Given the description of an element on the screen output the (x, y) to click on. 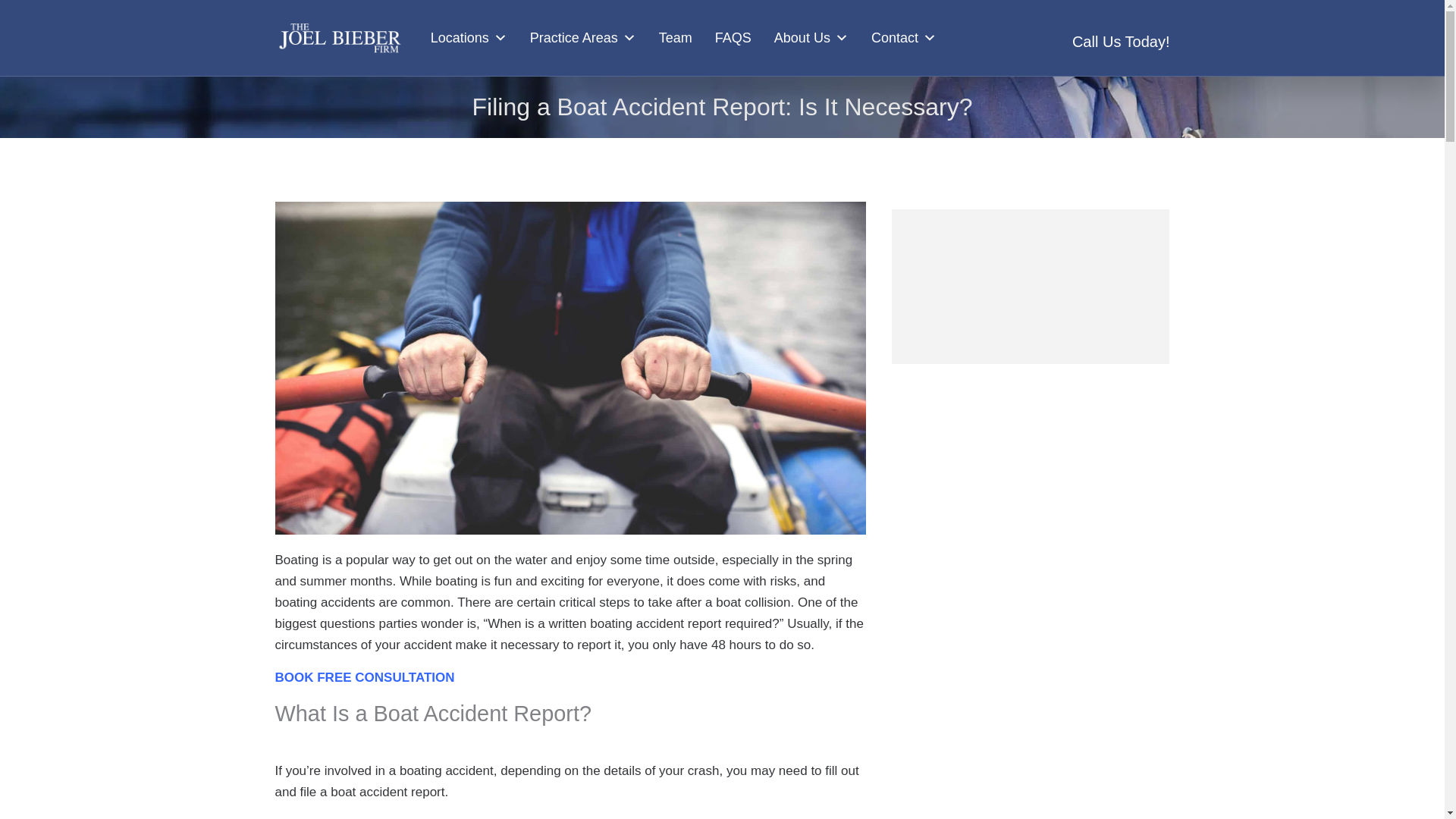
WHAT IS MY CASE WORTH? side (1030, 279)
Locations (468, 37)
Practice Areas (582, 37)
